Given the description of an element on the screen output the (x, y) to click on. 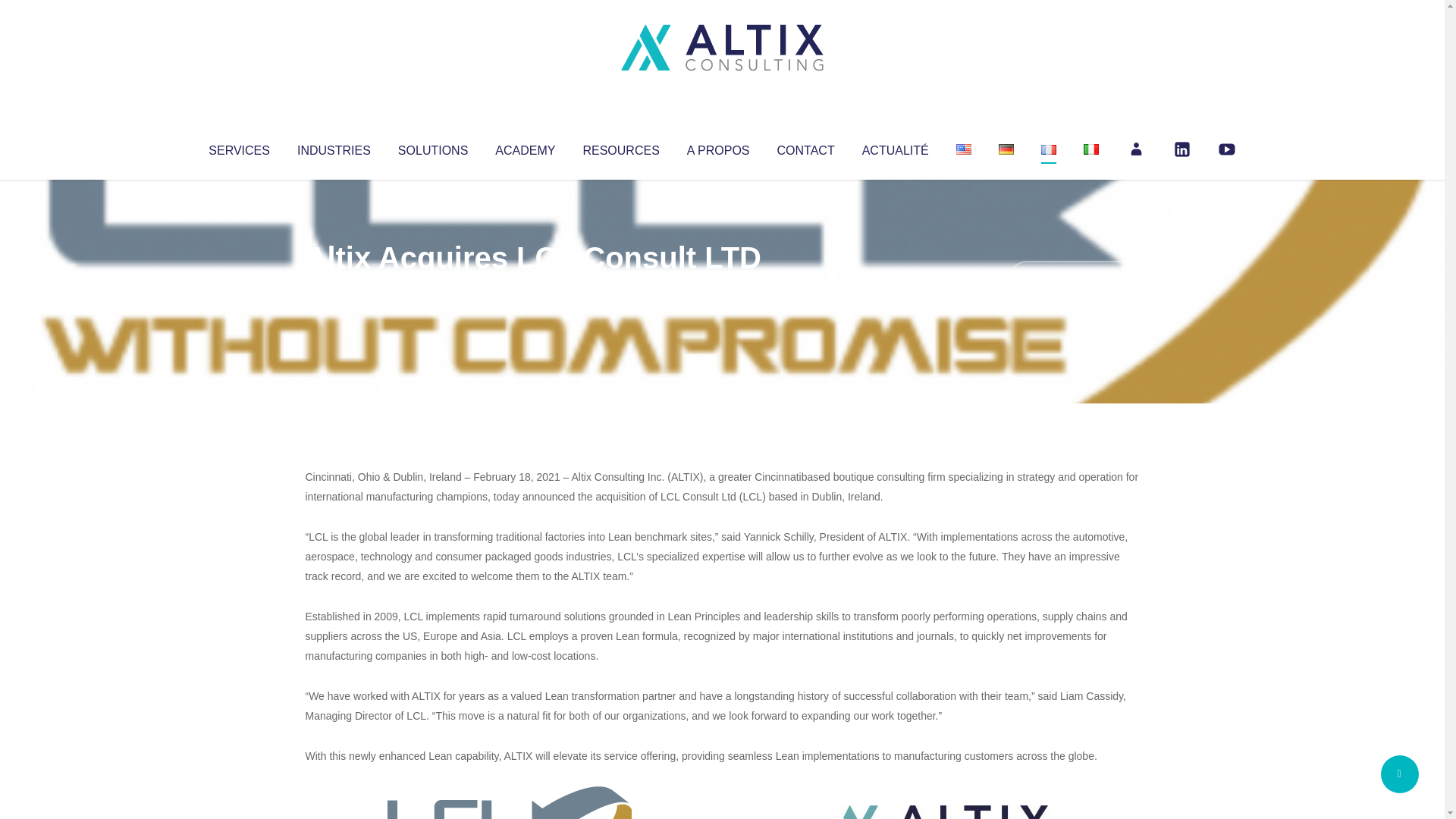
ACADEMY (524, 146)
SOLUTIONS (432, 146)
Uncategorized (530, 287)
No Comments (1073, 278)
INDUSTRIES (334, 146)
RESOURCES (620, 146)
SERVICES (238, 146)
Altix (333, 287)
A PROPOS (718, 146)
Articles par Altix (333, 287)
